Given the description of an element on the screen output the (x, y) to click on. 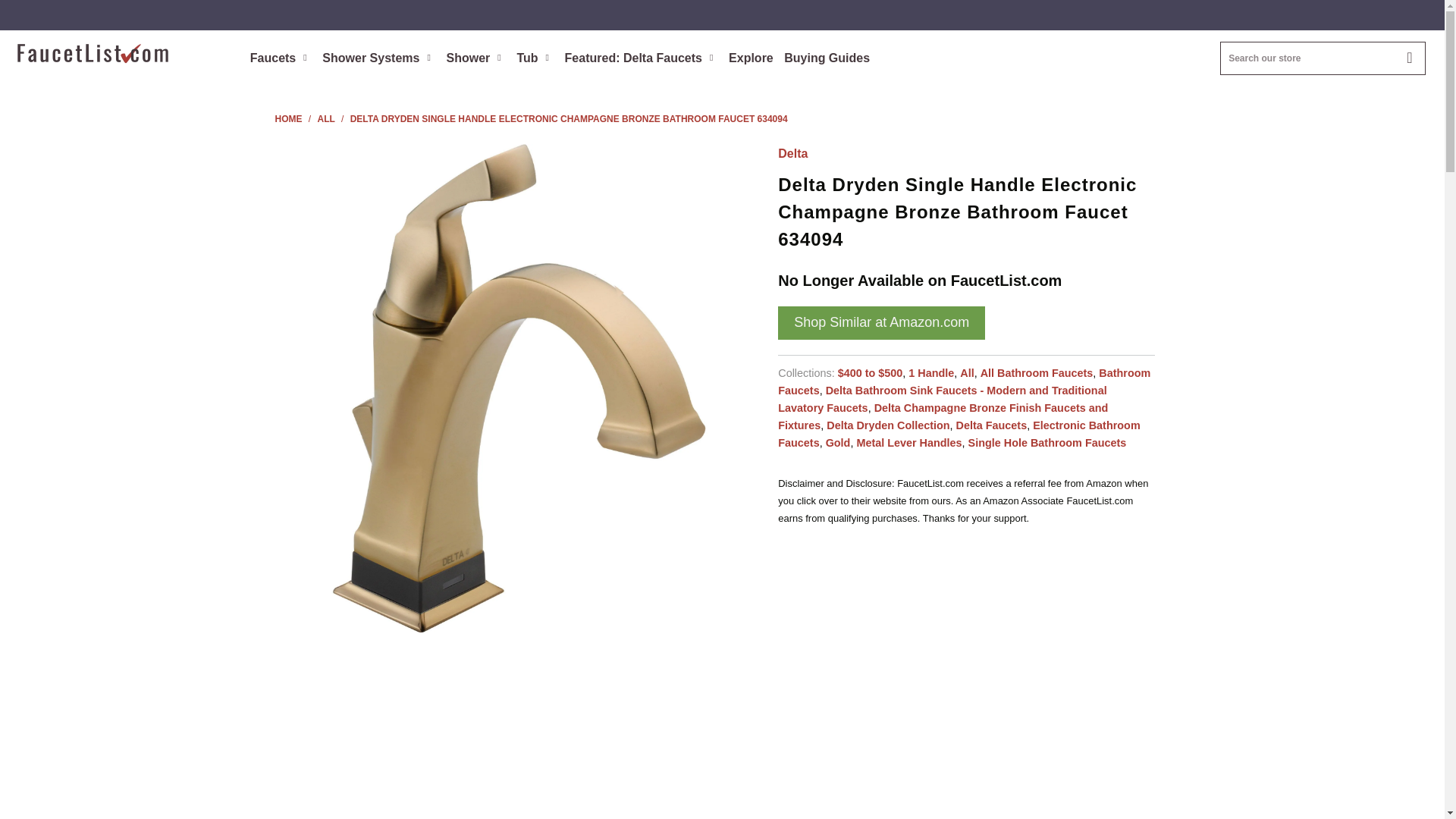
Gold (837, 442)
FaucetList.com (122, 54)
1 Handle (930, 372)
Metal Lever Handles (908, 442)
All Bathroom Faucets (1036, 372)
All (966, 372)
All (327, 118)
Delta Faucets (991, 425)
Delta Champagne Bronze Finish Faucets and Fixtures (942, 416)
Shop Similar at Amazon.com (881, 322)
